Given the description of an element on the screen output the (x, y) to click on. 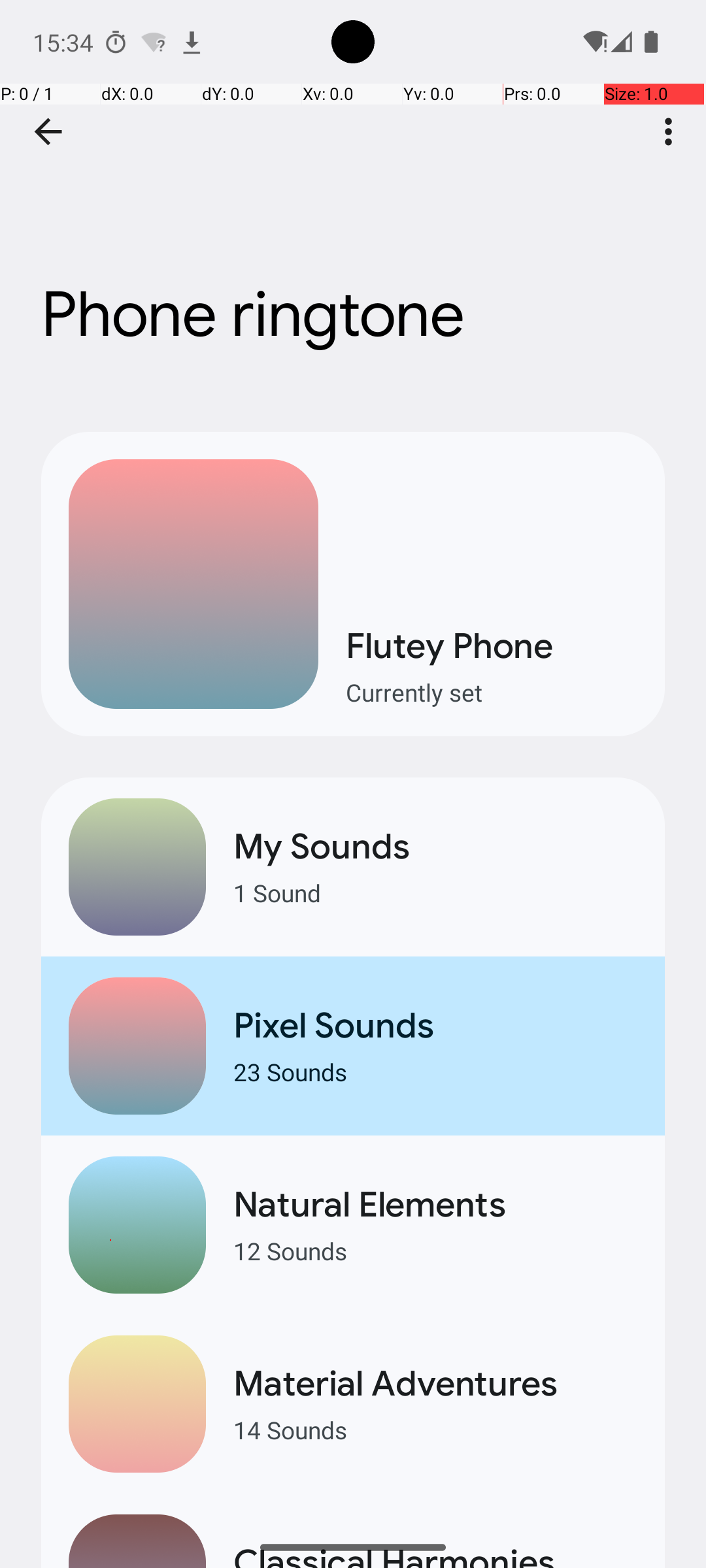
1 Sound Element type: android.widget.TextView (435, 892)
